Given the description of an element on the screen output the (x, y) to click on. 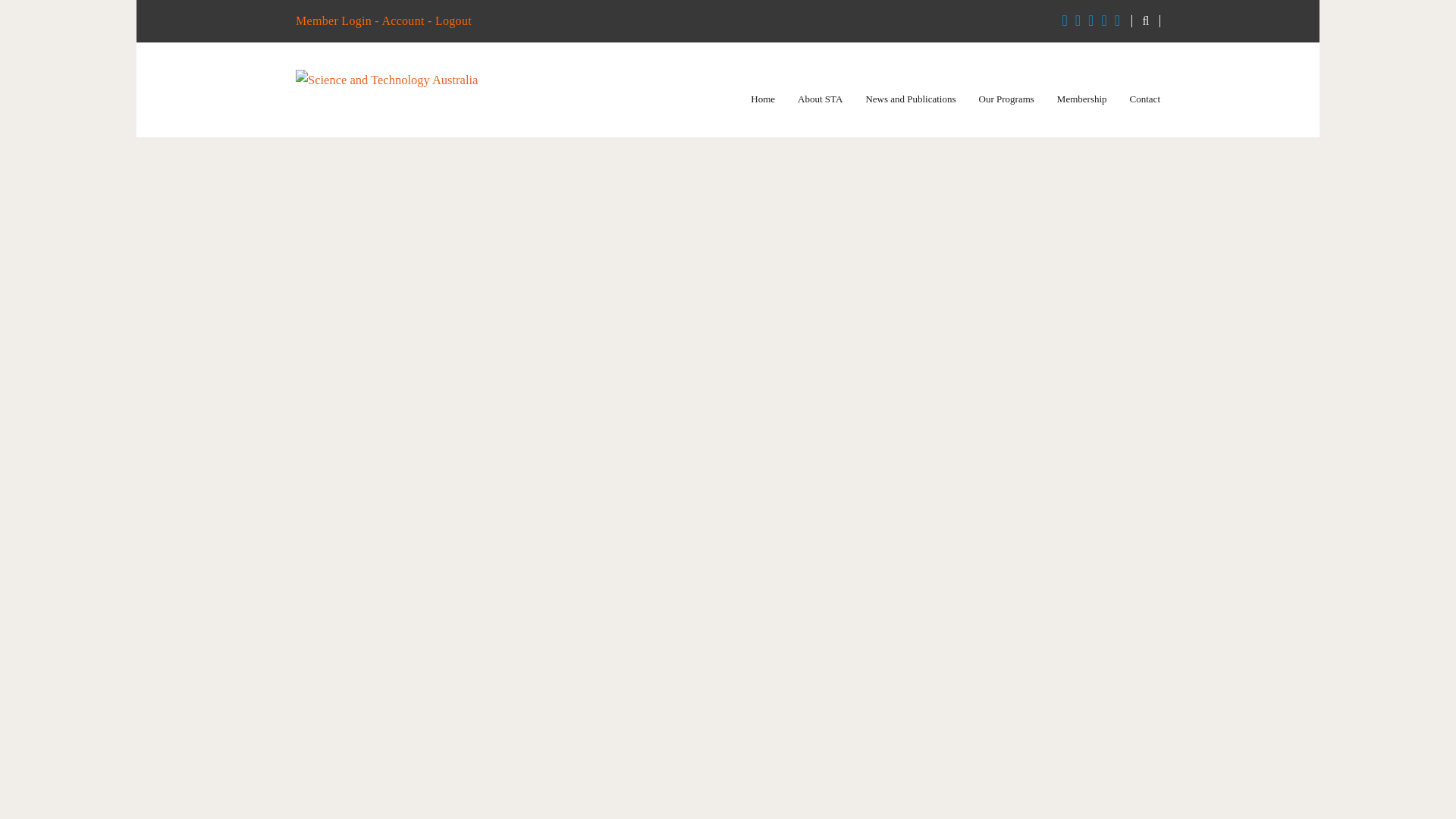
Logout (453, 20)
Member Login (333, 20)
About STA (820, 98)
News and Publications (909, 98)
Membership (1081, 98)
Account (402, 20)
Contact (1144, 98)
Our Programs (1005, 98)
Home (762, 98)
